Given the description of an element on the screen output the (x, y) to click on. 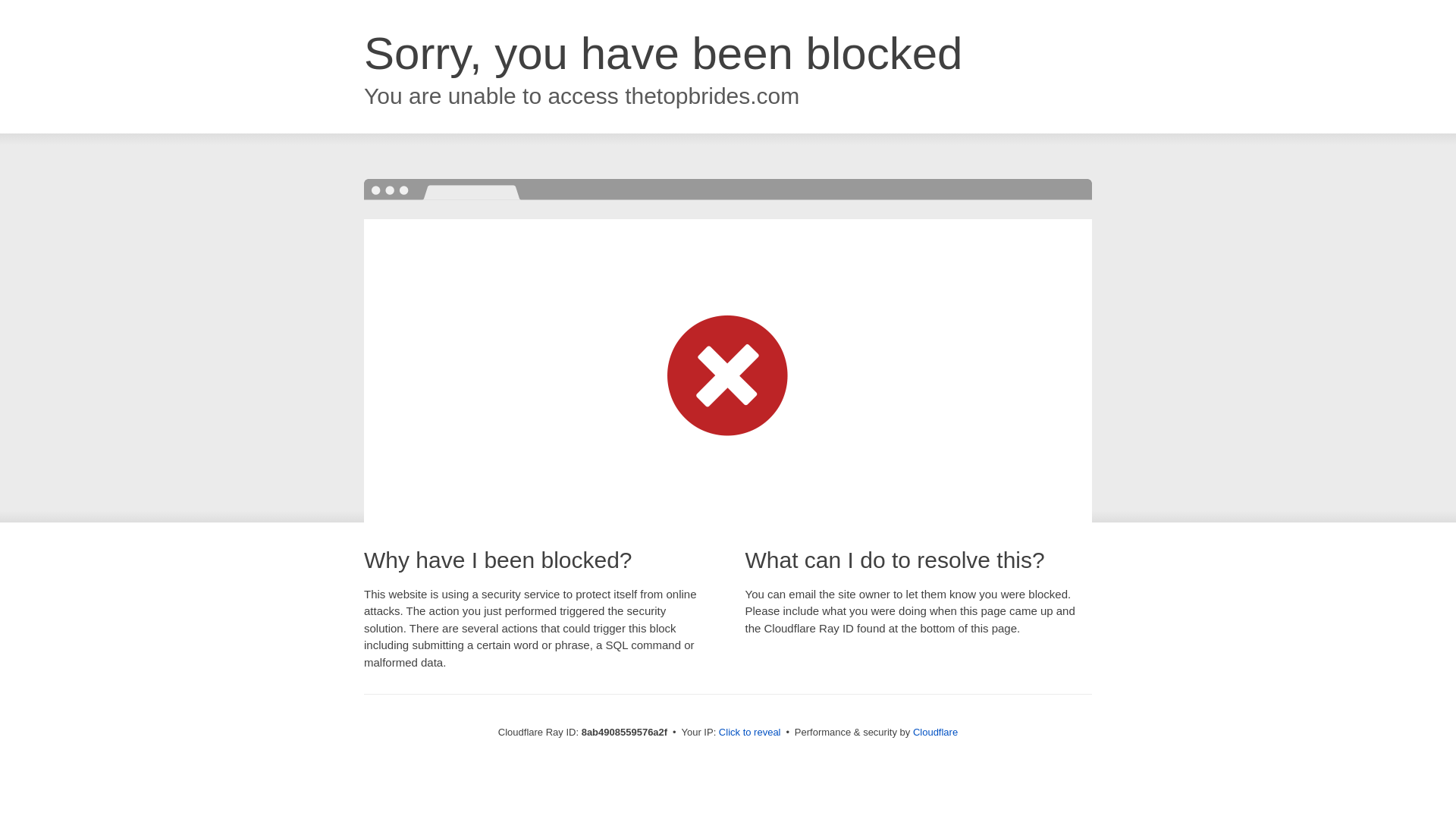
Cloudflare (935, 731)
Click to reveal (749, 732)
